Given the description of an element on the screen output the (x, y) to click on. 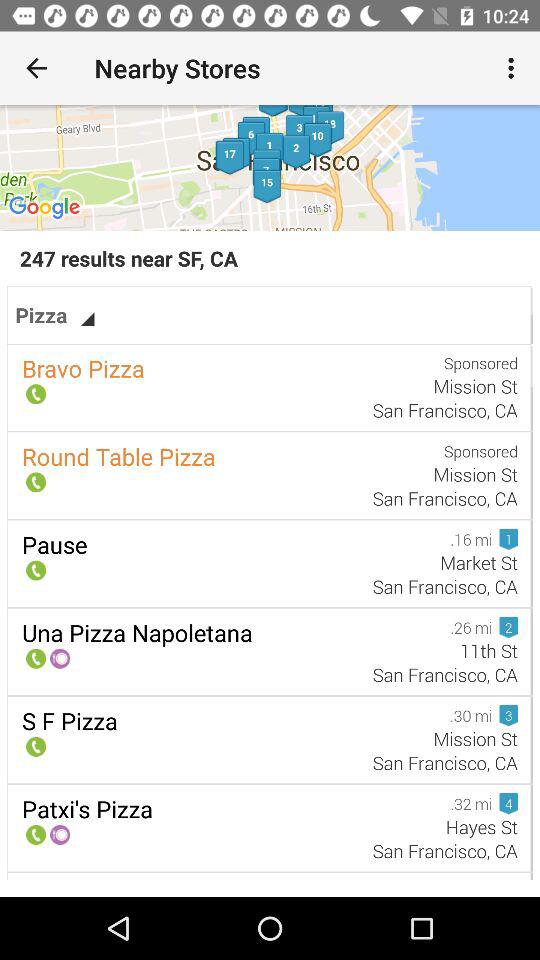
select the text which is immediately below 247 results near sf ca (55, 314)
select the icon which is above the text sf pizza (33, 747)
select the button which is at top right corner of page (514, 68)
